Given the description of an element on the screen output the (x, y) to click on. 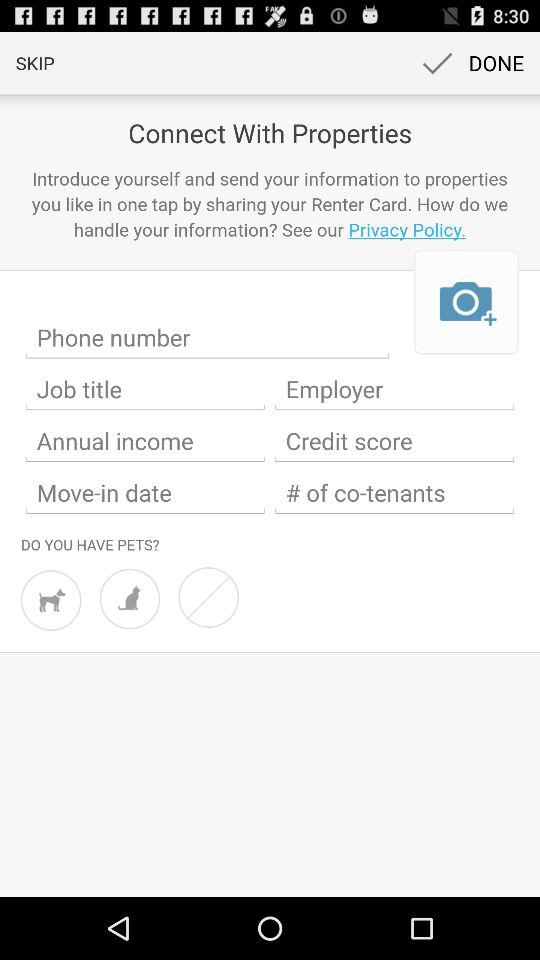
credit score switch (394, 441)
